Given the description of an element on the screen output the (x, y) to click on. 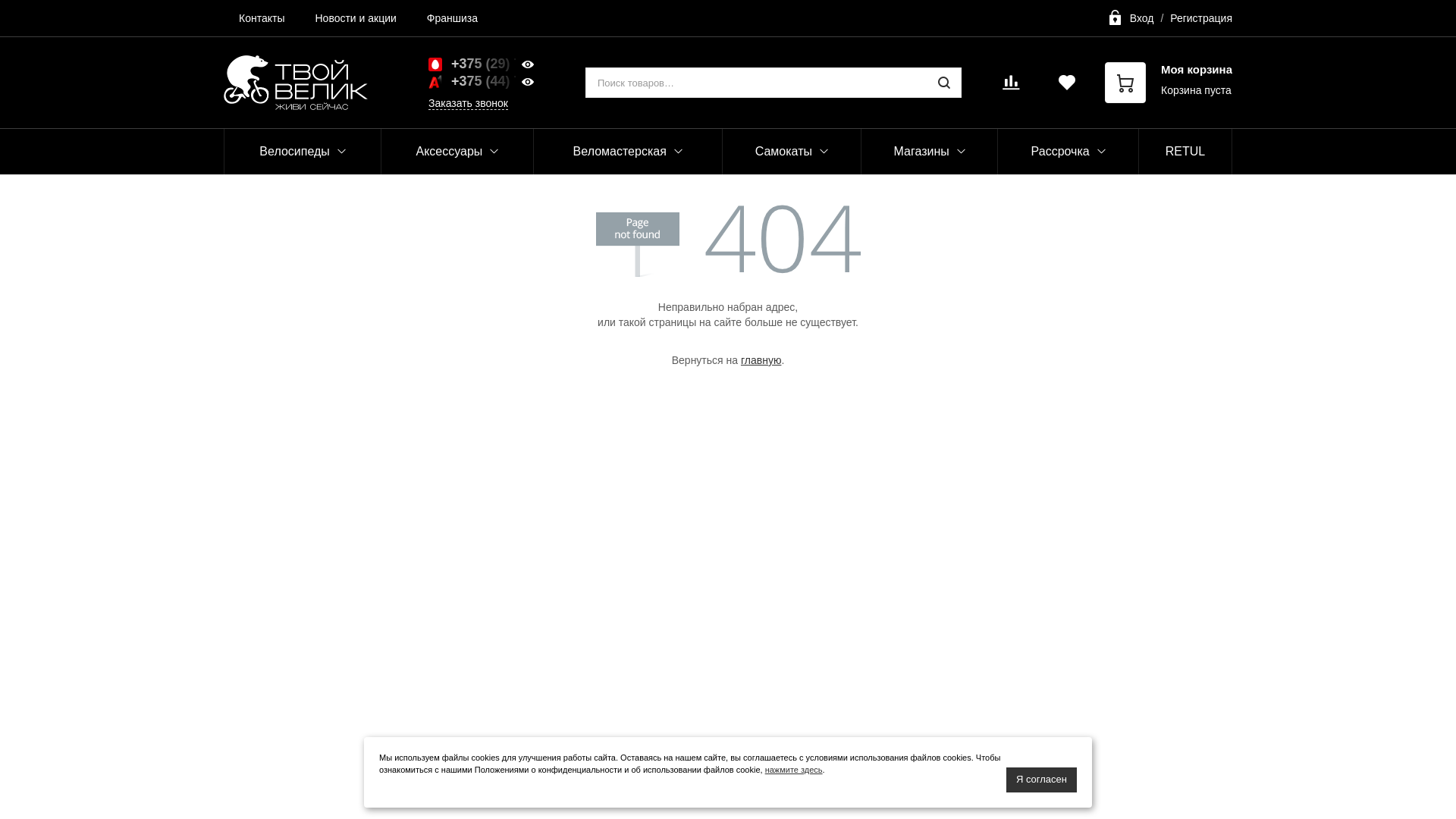
RETUL Element type: text (1185, 151)
+375 (29) 780-31-31 Element type: text (495, 63)
+375 (44) 780-31-31 Element type: text (495, 81)
